Given the description of an element on the screen output the (x, y) to click on. 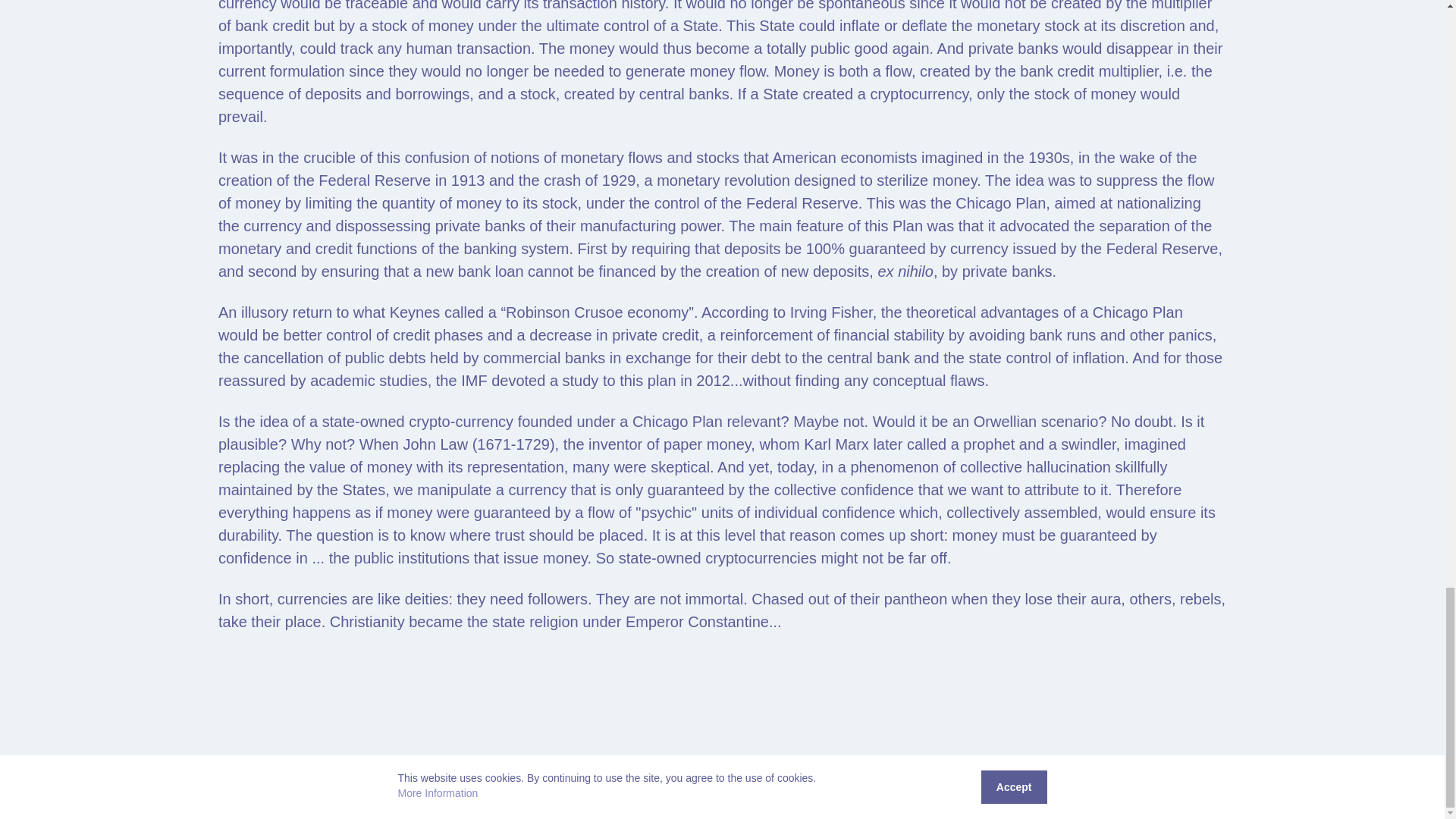
Privacy Policy (1355, 796)
Resources (1246, 796)
Credits (1296, 796)
Imprint (1412, 796)
